Given the description of an element on the screen output the (x, y) to click on. 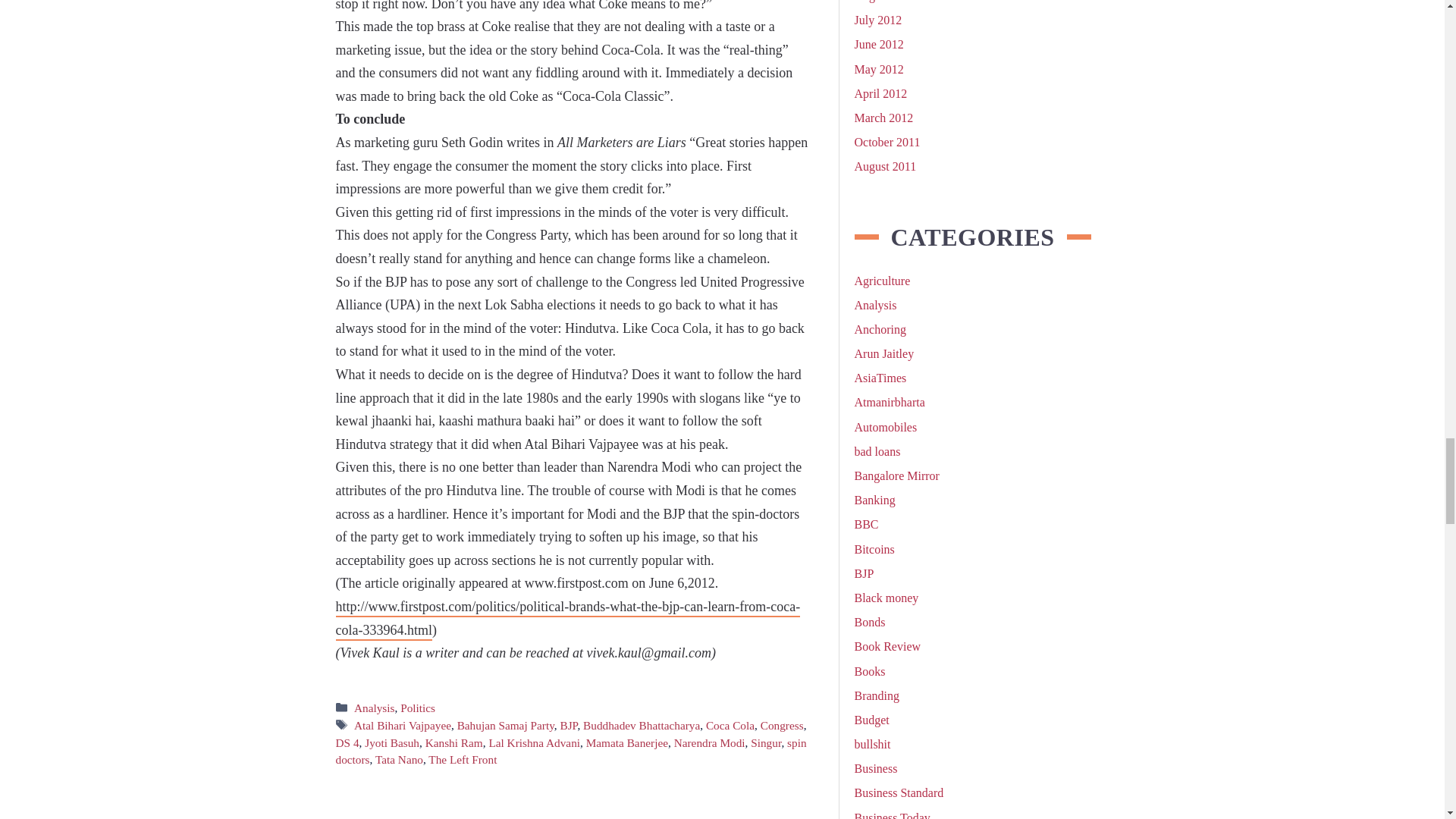
Politics (417, 707)
Analysis (373, 707)
Atal Bihari Vajpayee (402, 725)
Bahujan Samaj Party (505, 725)
here (566, 619)
